Given the description of an element on the screen output the (x, y) to click on. 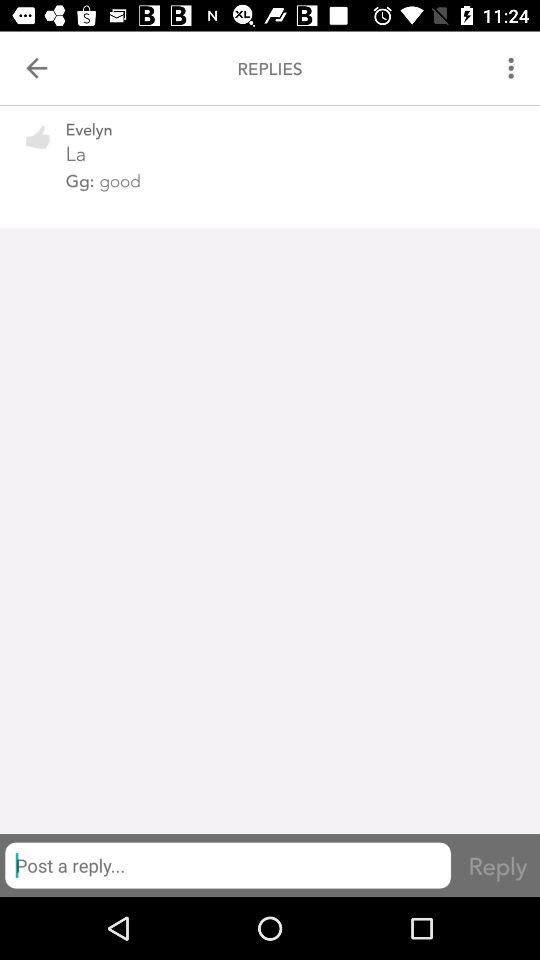
click the item next to replies (513, 67)
